Given the description of an element on the screen output the (x, y) to click on. 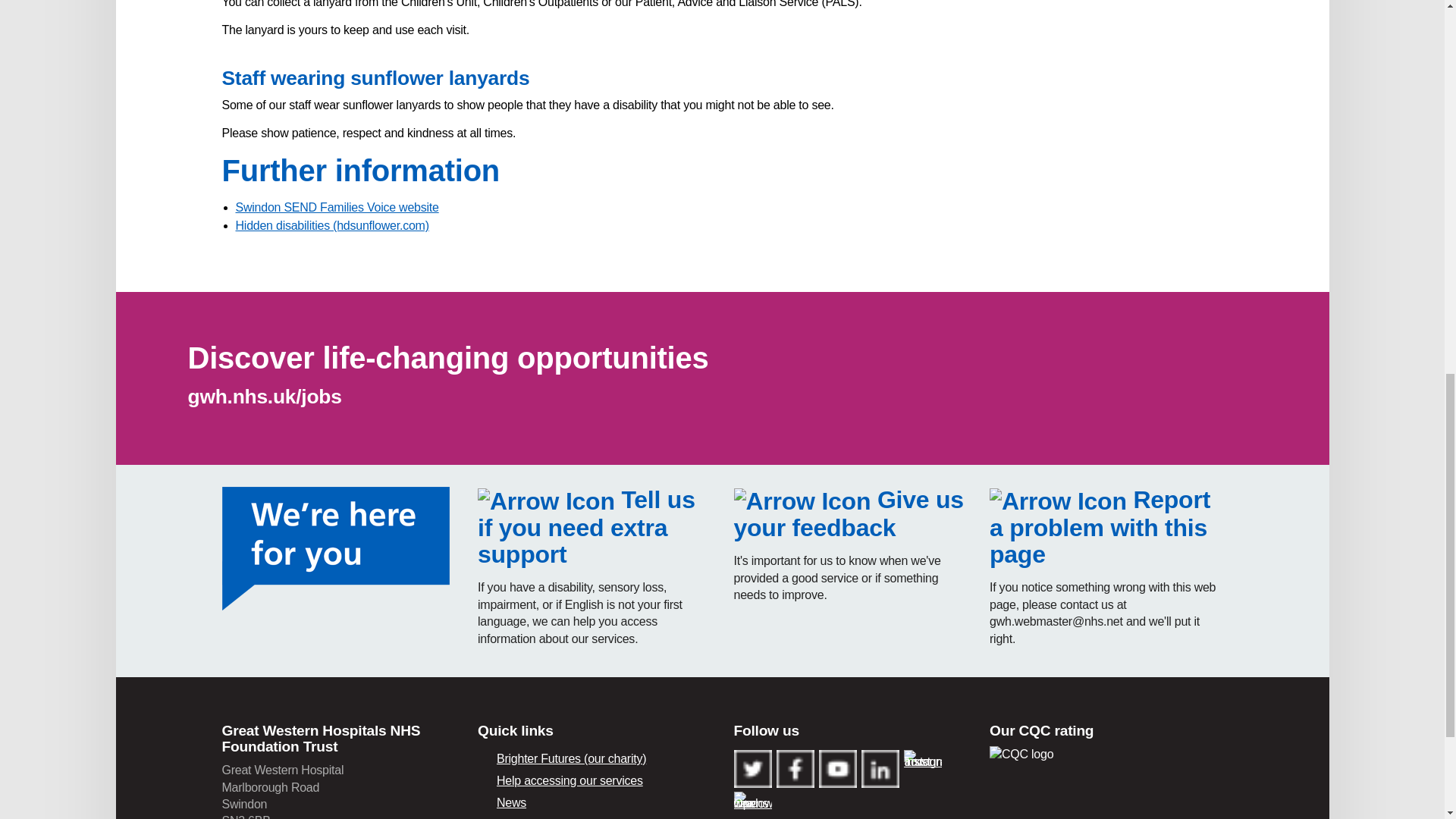
Discover Great Opportunities (448, 357)
Discover life-changing opportunities (448, 357)
Tell us if you need extra support (586, 527)
Non-emergency care (594, 817)
Feedback (848, 513)
Give us your feedback (848, 513)
Help accessing our services (594, 781)
Discover Great Opportunities (264, 395)
 Report a problem with this page (1099, 527)
Swindon SEND Families Voice website (336, 206)
Help accessing our services (586, 527)
Opens in a new window (336, 206)
News (594, 802)
